Given the description of an element on the screen output the (x, y) to click on. 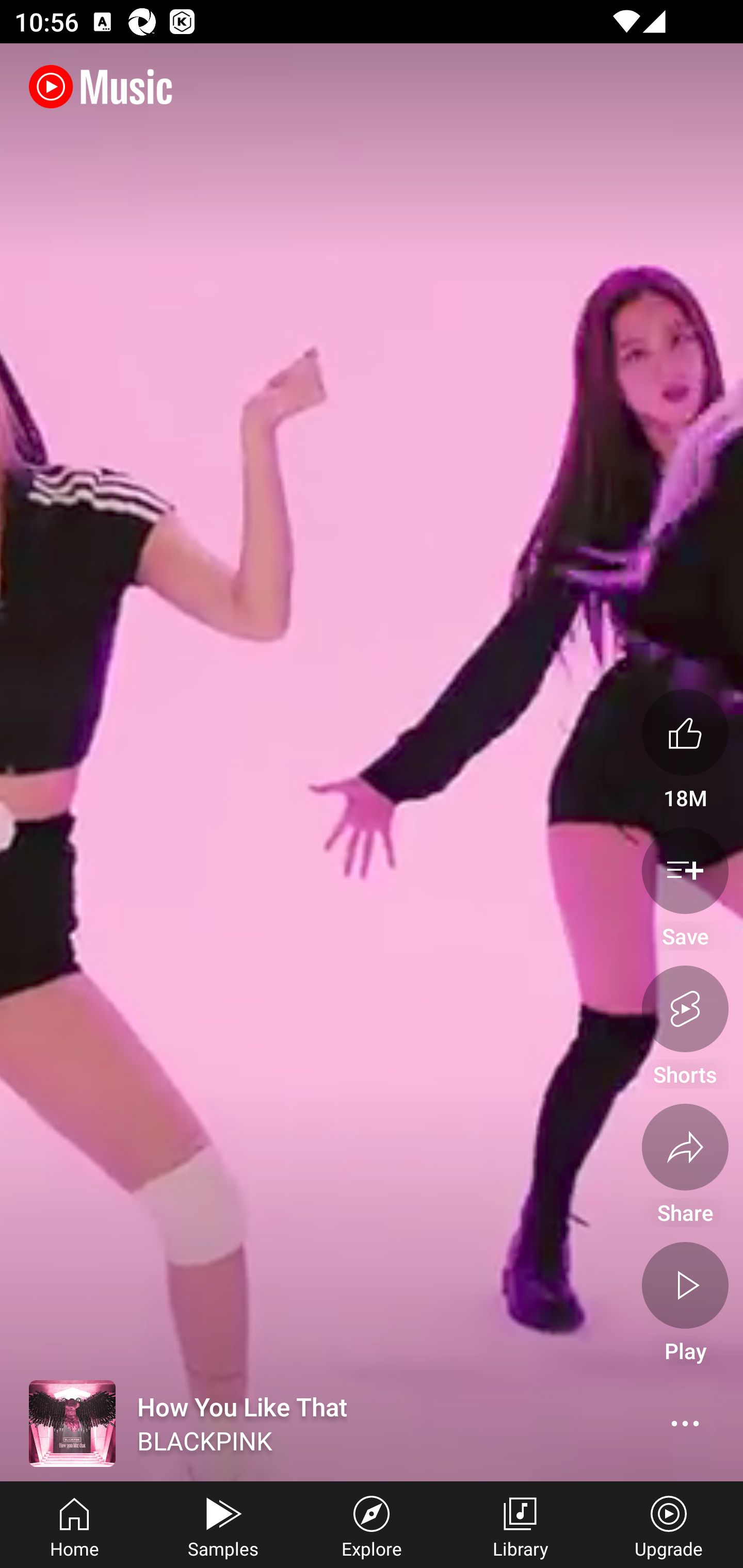
How You Like That (291, 1423)
Home (74, 1524)
Explore (371, 1524)
Library (519, 1524)
Upgrade (668, 1524)
